Given the description of an element on the screen output the (x, y) to click on. 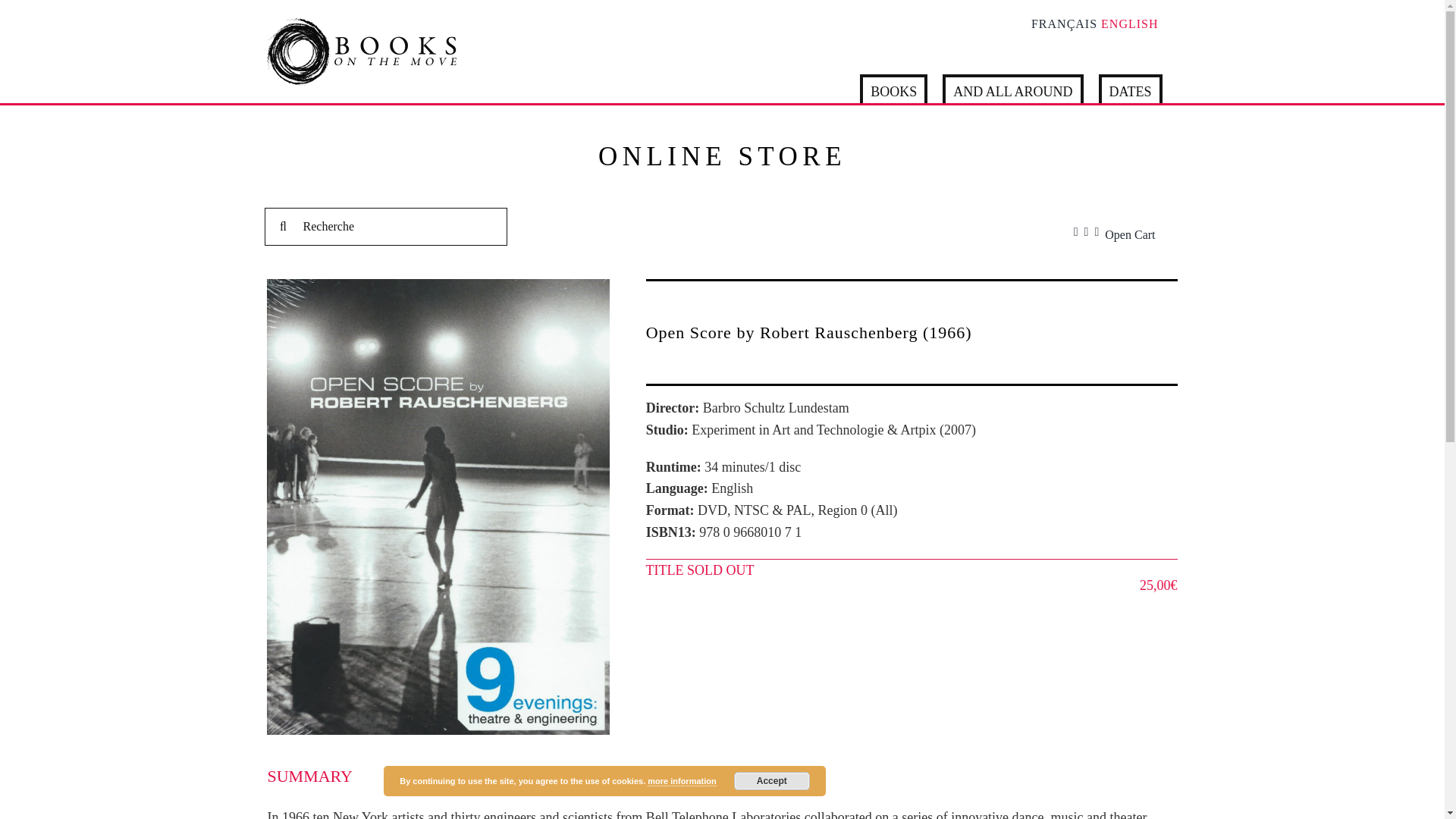
ENGLISH (1128, 24)
Open Cart (1132, 232)
Log In (1047, 405)
BOOKS (893, 88)
DATES (1130, 88)
English (1128, 24)
ONLINE STORE (721, 156)
AND ALL AROUND (1012, 88)
